Given the description of an element on the screen output the (x, y) to click on. 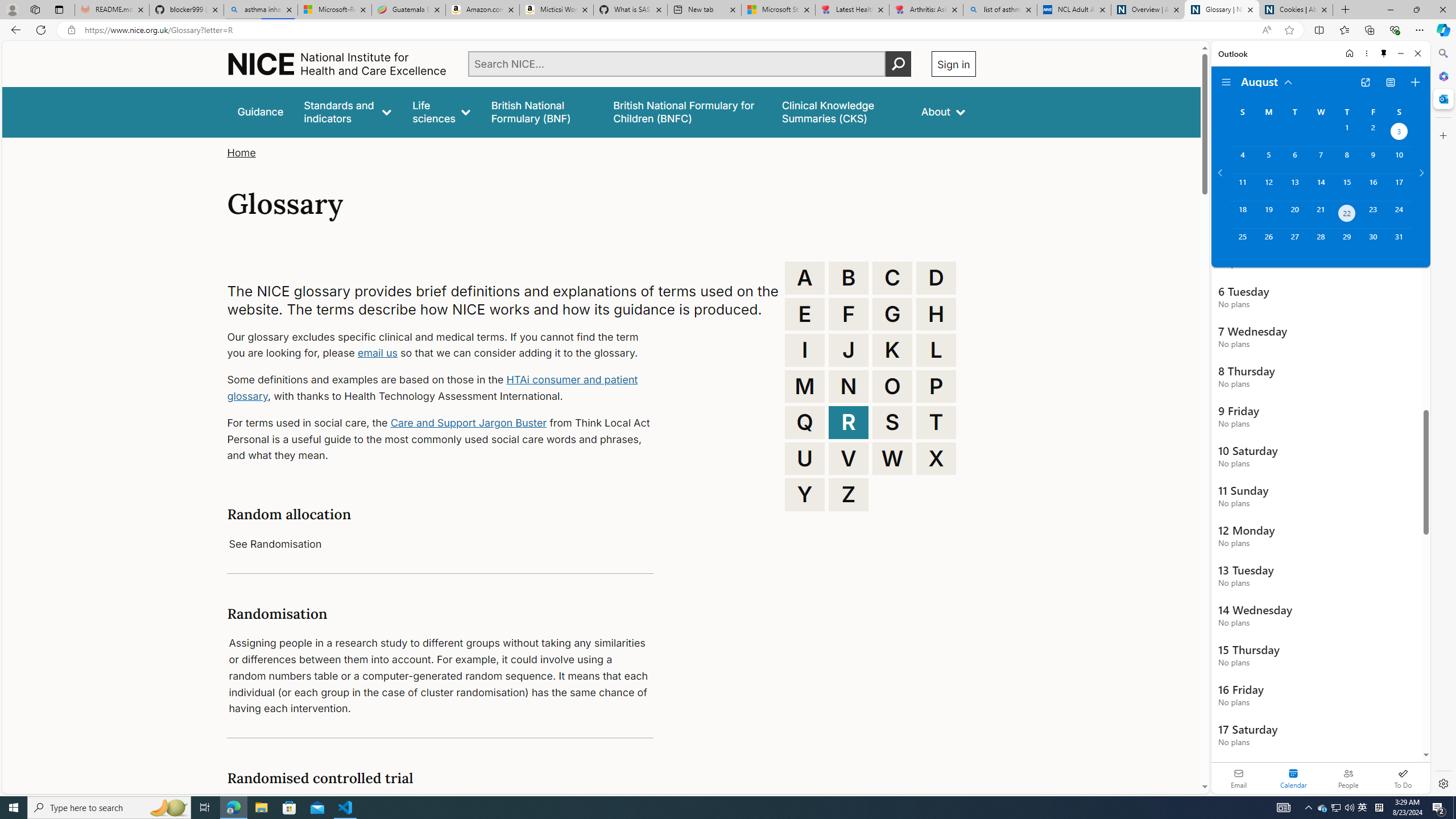
Back (13, 29)
Split screen (1318, 29)
H (935, 313)
W (892, 458)
J (848, 350)
British National Formulary for Children (BNFC) (686, 111)
August (1267, 80)
Settings and more (Alt+F) (1419, 29)
A (804, 277)
T (935, 422)
Search (1442, 53)
N (848, 385)
S (892, 422)
